Given the description of an element on the screen output the (x, y) to click on. 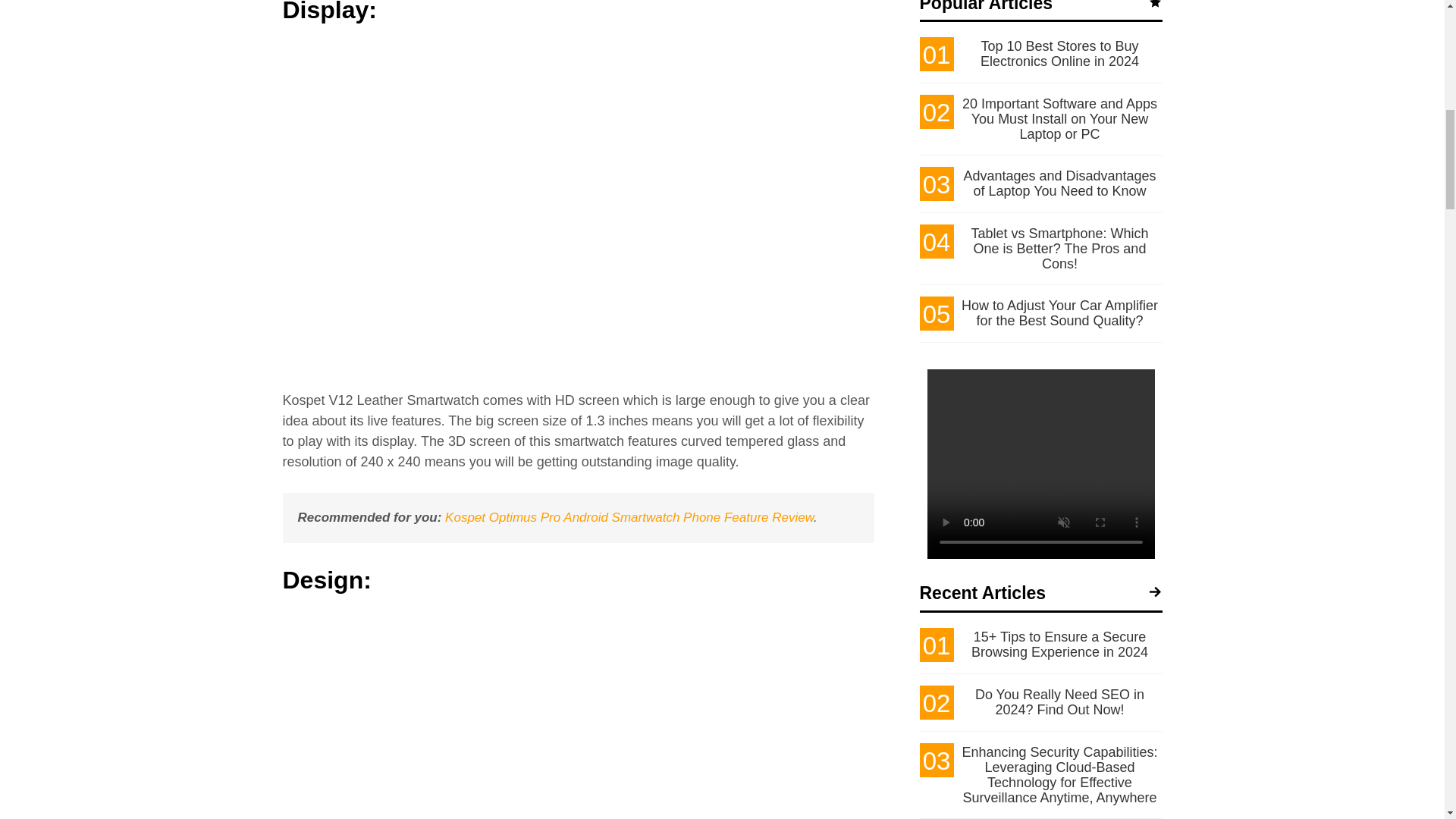
Kospet Optimus Pro Android Smartwatch Phone Feature Review (629, 517)
